Given the description of an element on the screen output the (x, y) to click on. 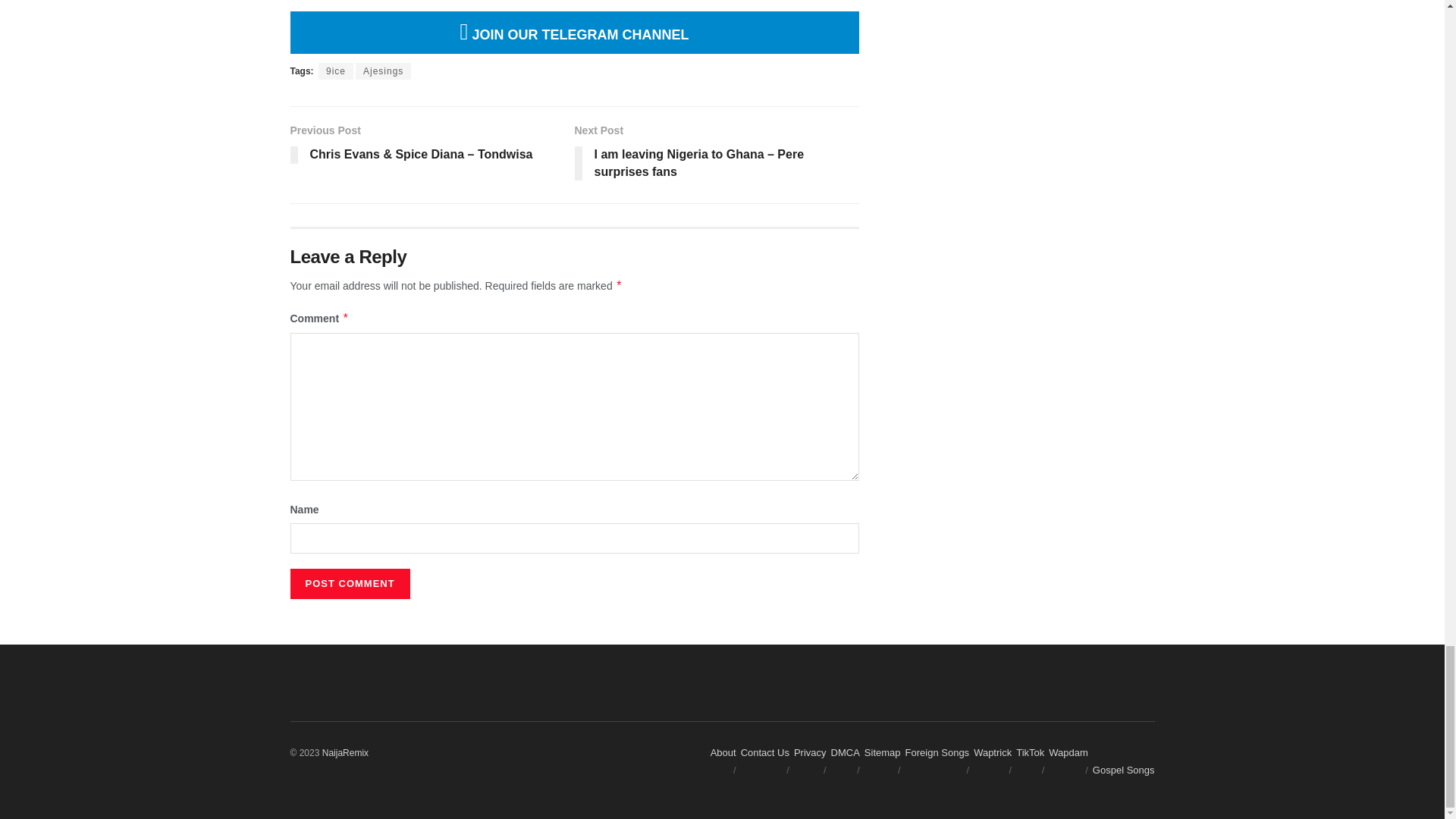
Post Comment (349, 583)
